Given the description of an element on the screen output the (x, y) to click on. 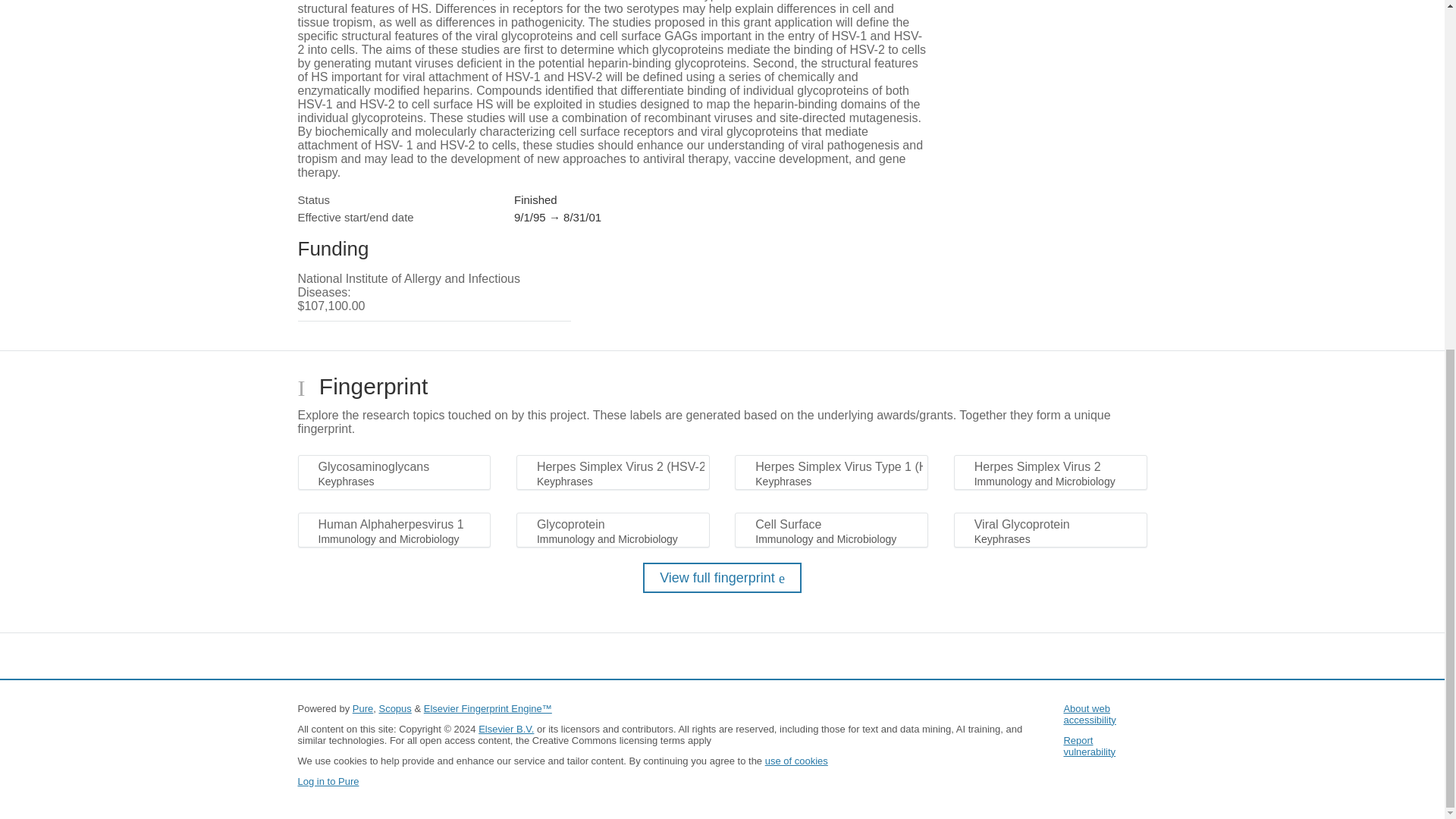
Elsevier B.V. (506, 728)
Report vulnerability (1088, 745)
Pure (362, 708)
About web accessibility (1088, 713)
Log in to Pure (327, 781)
Scopus (394, 708)
use of cookies (796, 760)
View full fingerprint (722, 577)
